Given the description of an element on the screen output the (x, y) to click on. 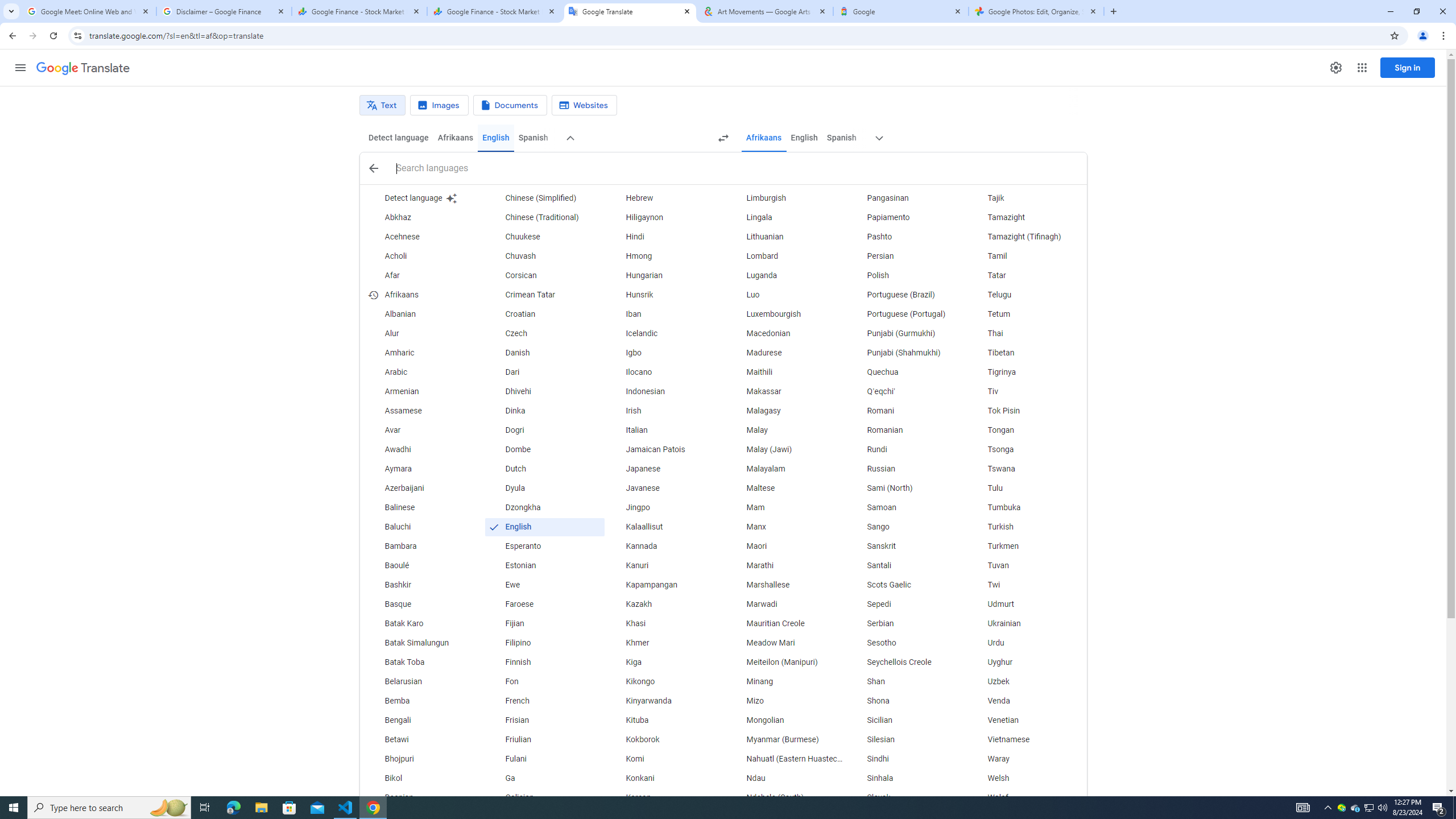
Baluchi (423, 527)
Image translation (439, 105)
Pangasinan (905, 198)
Hiligaynon (665, 217)
Igbo (665, 352)
Fon (544, 682)
Maltese (785, 488)
Friulian (544, 739)
Uzbek (1026, 682)
Russian (905, 469)
Tulu (1026, 488)
